Given the description of an element on the screen output the (x, y) to click on. 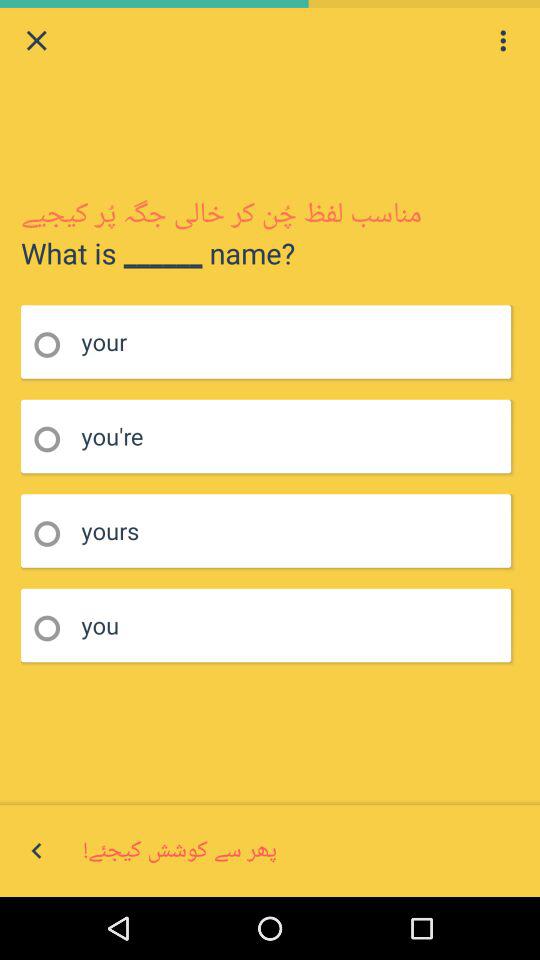
option (503, 40)
